Given the description of an element on the screen output the (x, y) to click on. 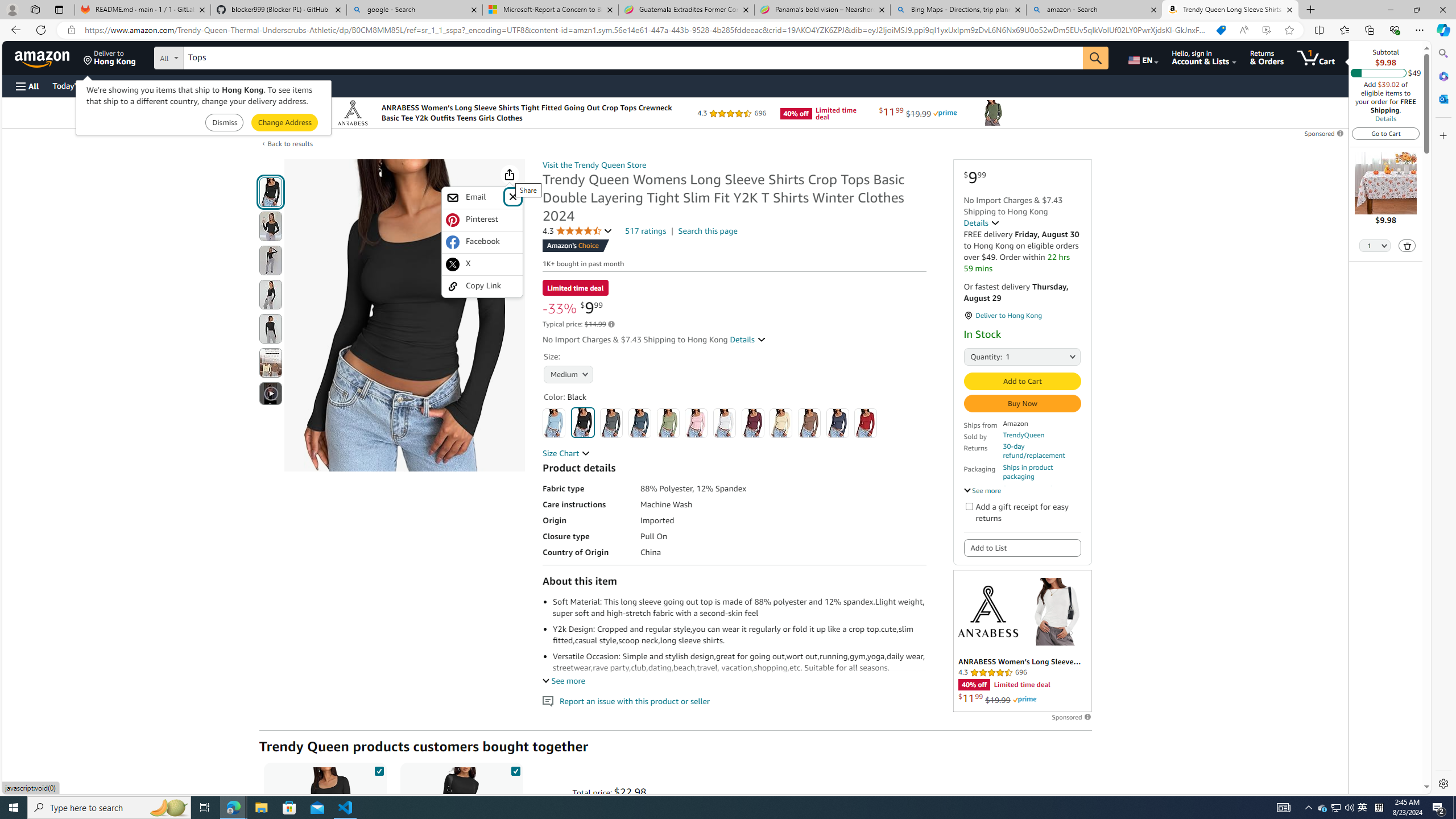
Submit (284, 122)
Wine Red (752, 422)
AutomationID: thematicBundleCheck-1 (379, 768)
Details  (981, 222)
Delete (1407, 245)
Copy Link (482, 286)
Add to Cart (1021, 381)
Black (583, 422)
